Given the description of an element on the screen output the (x, y) to click on. 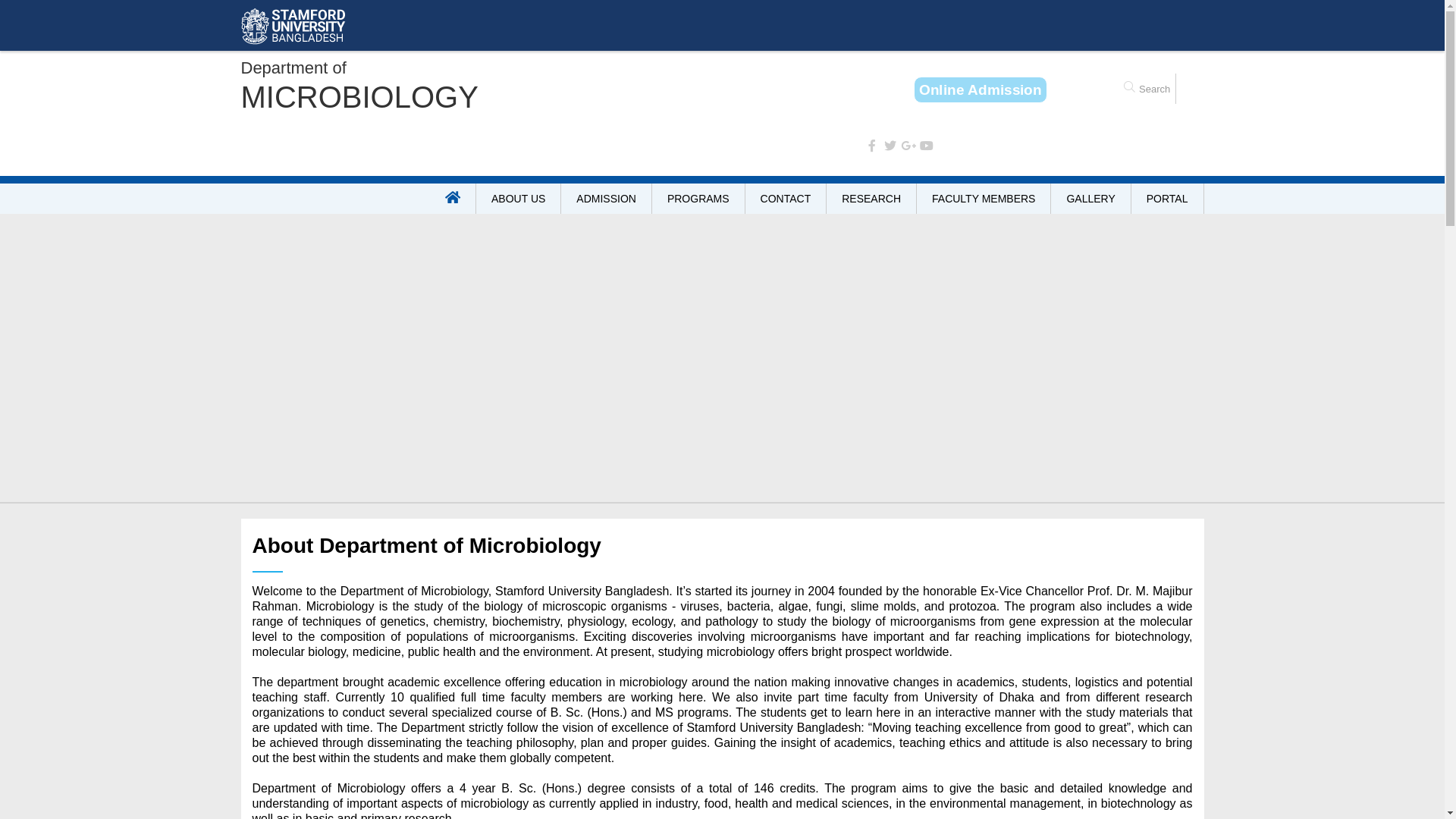
GALLERY Element type: text (1090, 198)
CONTACT Element type: text (786, 198)
Onlin Element type: text (980, 88)
ABOUT US Element type: text (518, 198)
FACULTY MEMBERS Element type: text (983, 198)
ADMISSION Element type: text (606, 198)
RESEARCH Element type: text (871, 198)
PROGRAMS Element type: text (698, 198)
Online Element type: text (980, 89)
PORTAL Element type: text (1167, 198)
